Given the description of an element on the screen output the (x, y) to click on. 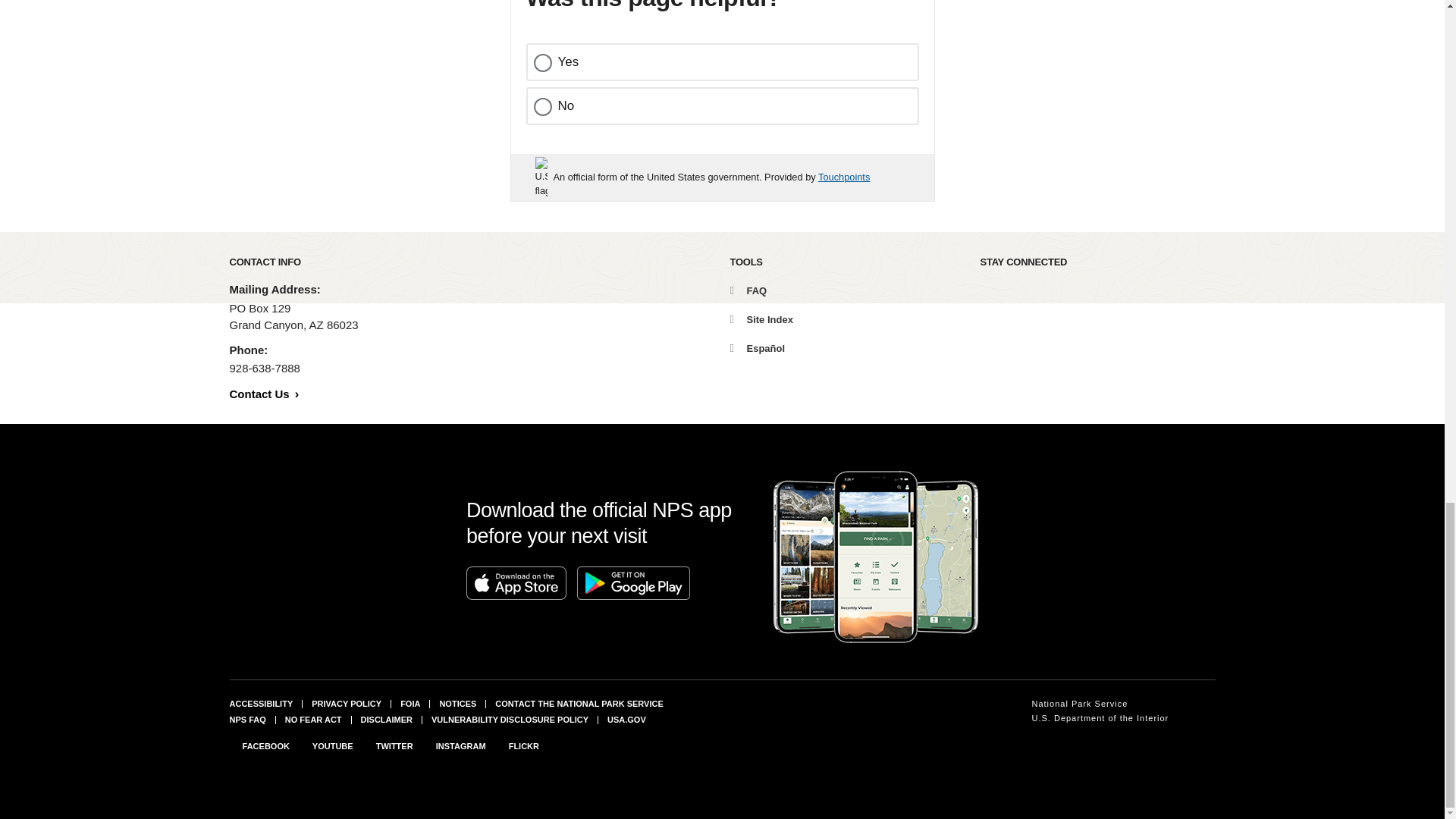
National Park Service frequently asked questions (246, 718)
